Given the description of an element on the screen output the (x, y) to click on. 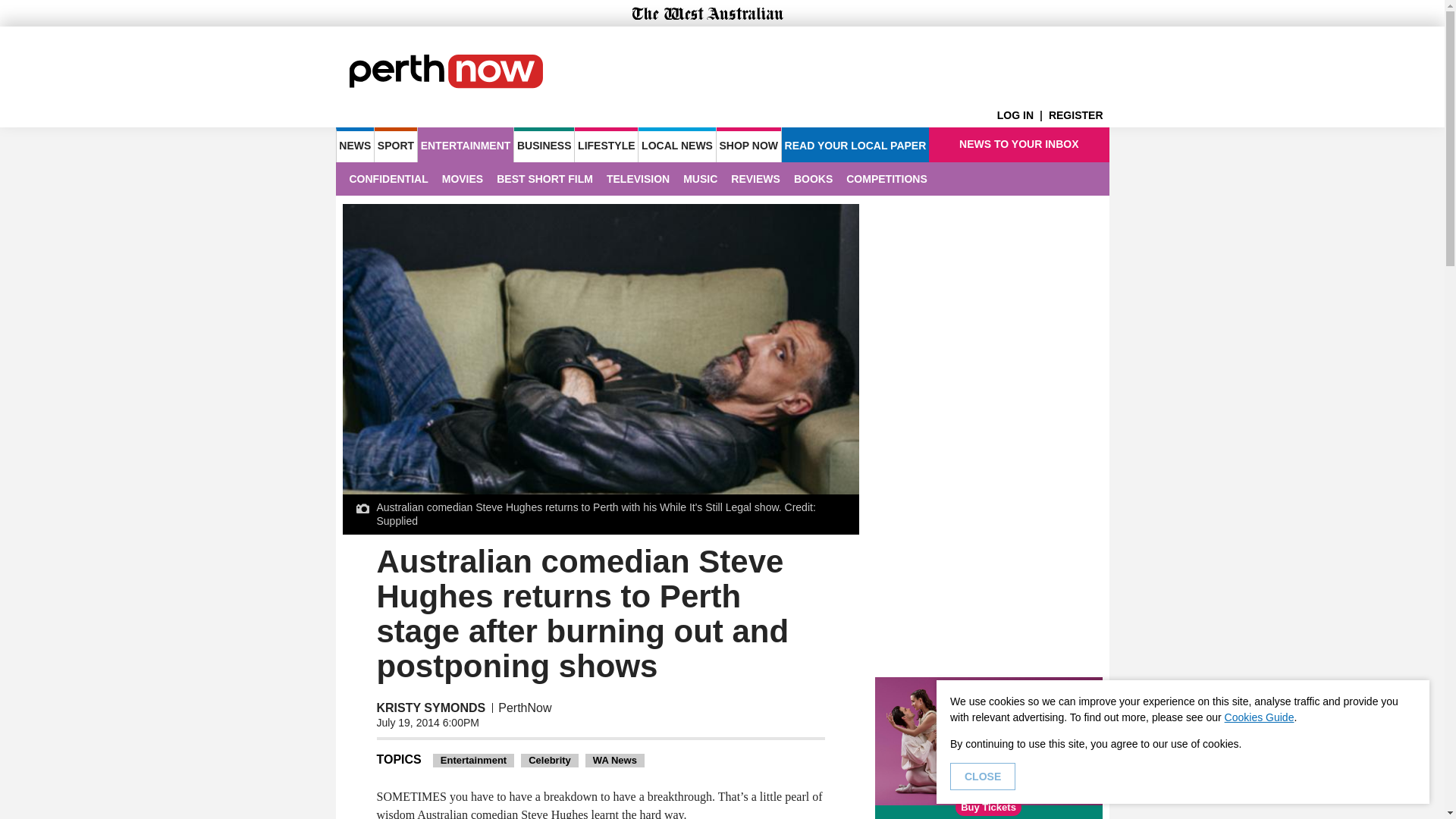
SPORT (395, 144)
REGISTER (1078, 115)
LOG IN (1022, 115)
NEWS (354, 144)
ENTERTAINMENT (465, 144)
